Given the description of an element on the screen output the (x, y) to click on. 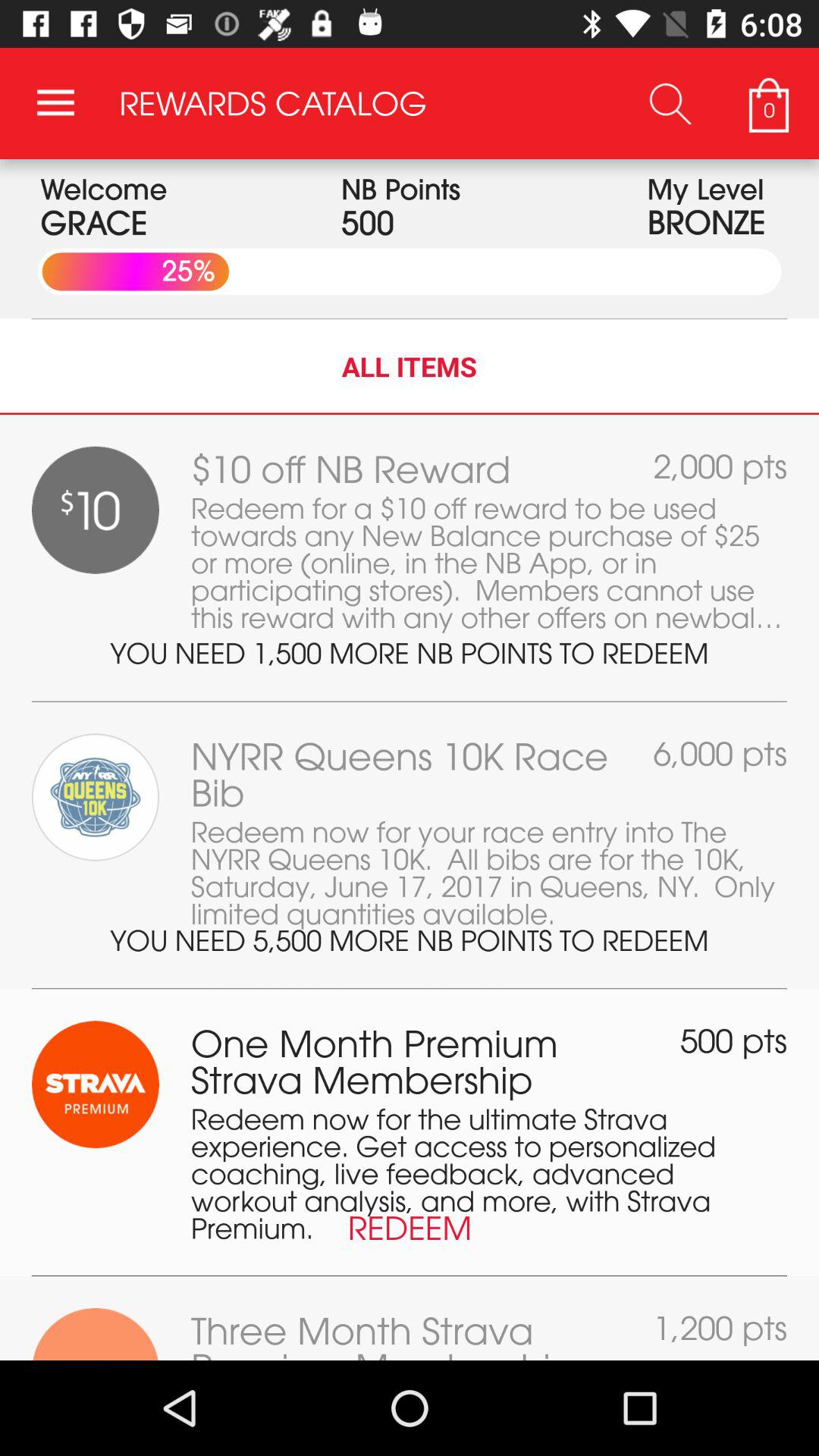
open item below the redeem now for (409, 988)
